Given the description of an element on the screen output the (x, y) to click on. 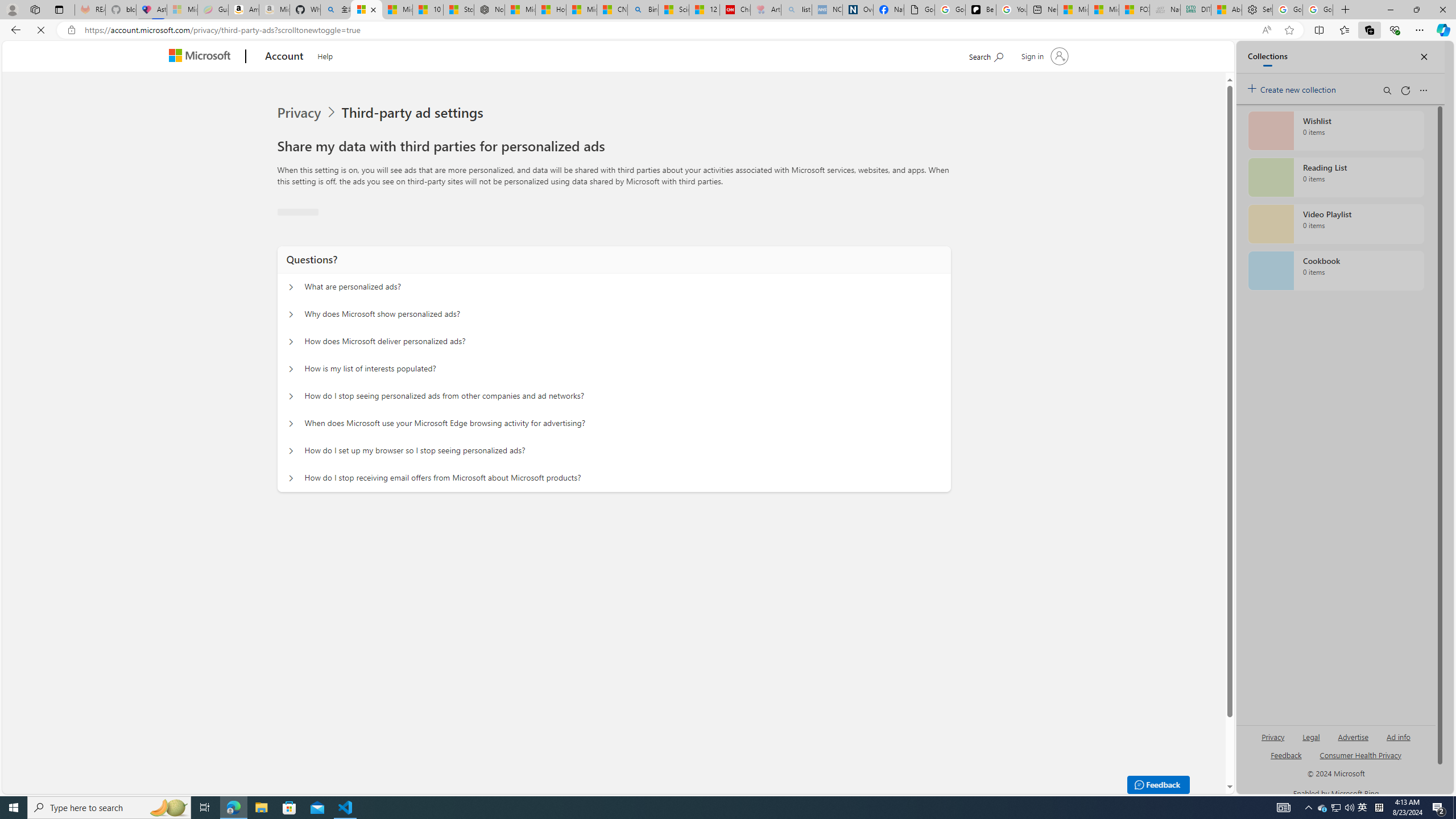
Arthritis: Ask Health Professionals - Sleeping (765, 9)
Questions? What are personalized ads? (290, 444)
